Given the description of an element on the screen output the (x, y) to click on. 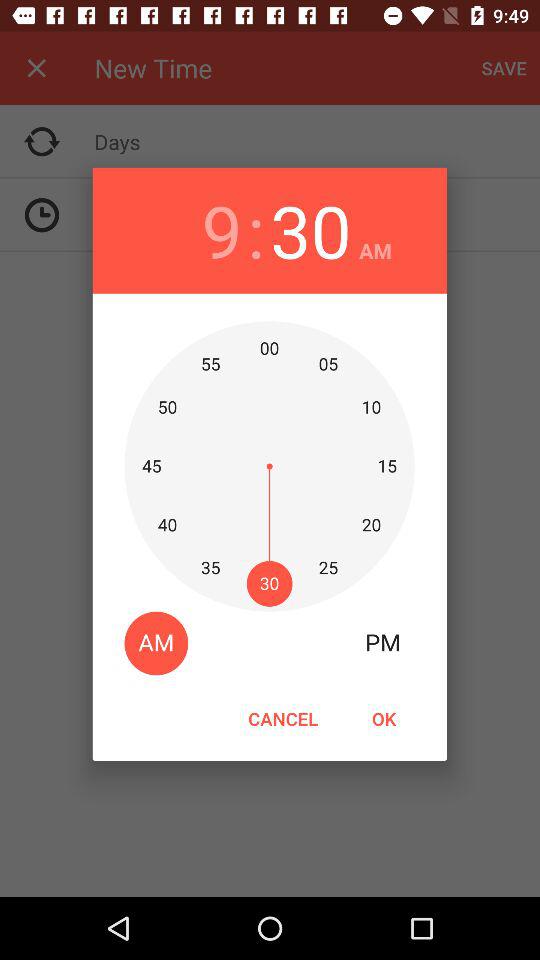
flip until the 30 item (310, 230)
